Given the description of an element on the screen output the (x, y) to click on. 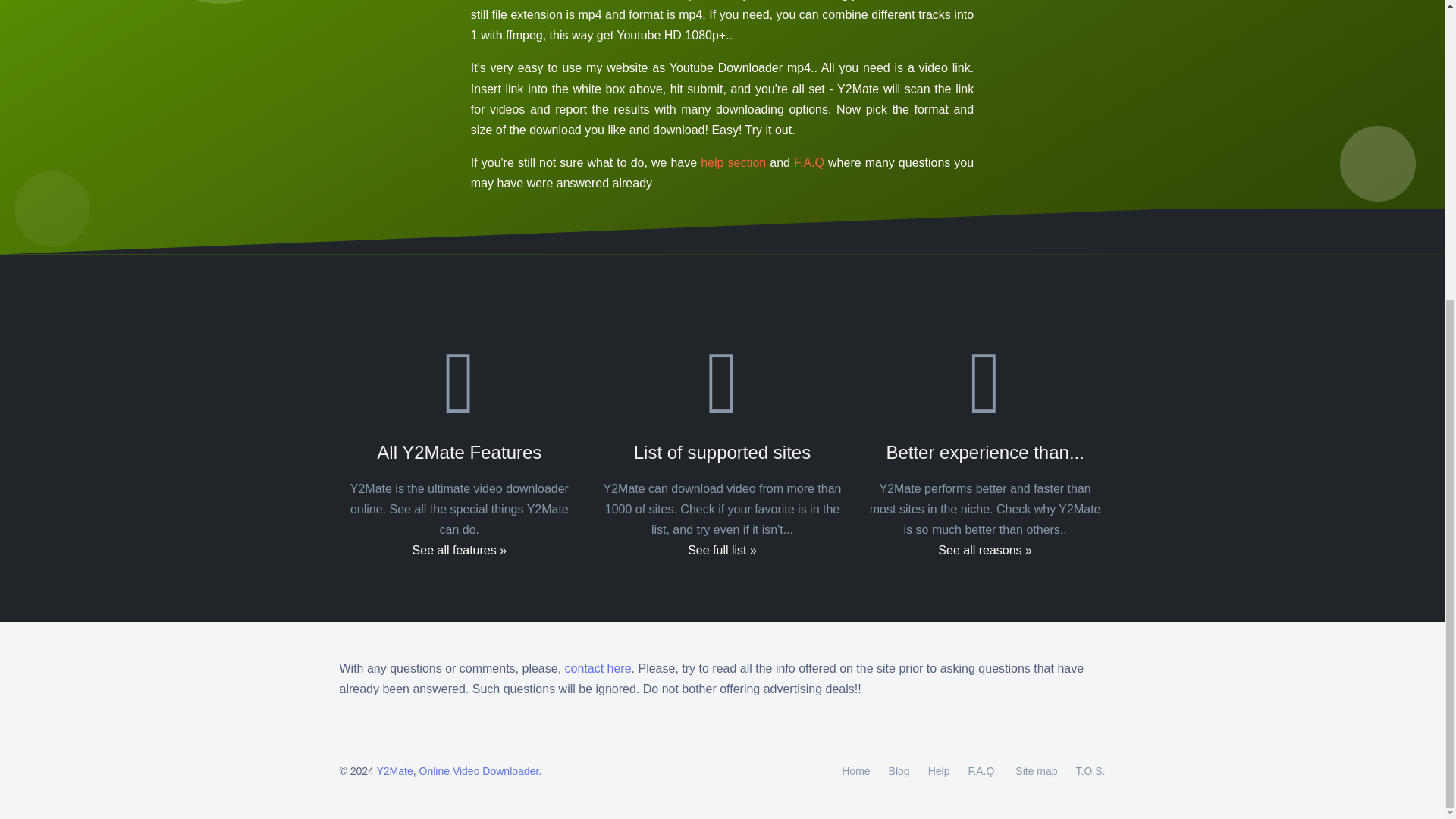
F.A.Q. (982, 771)
All Y2Mate Features (459, 470)
contact here (597, 667)
Better experience than... (984, 470)
Y2Mate (393, 770)
Help (938, 771)
Blog (898, 771)
List of supported sites (722, 470)
Site map (1035, 771)
Online Video Downloader. (480, 770)
